Given the description of an element on the screen output the (x, y) to click on. 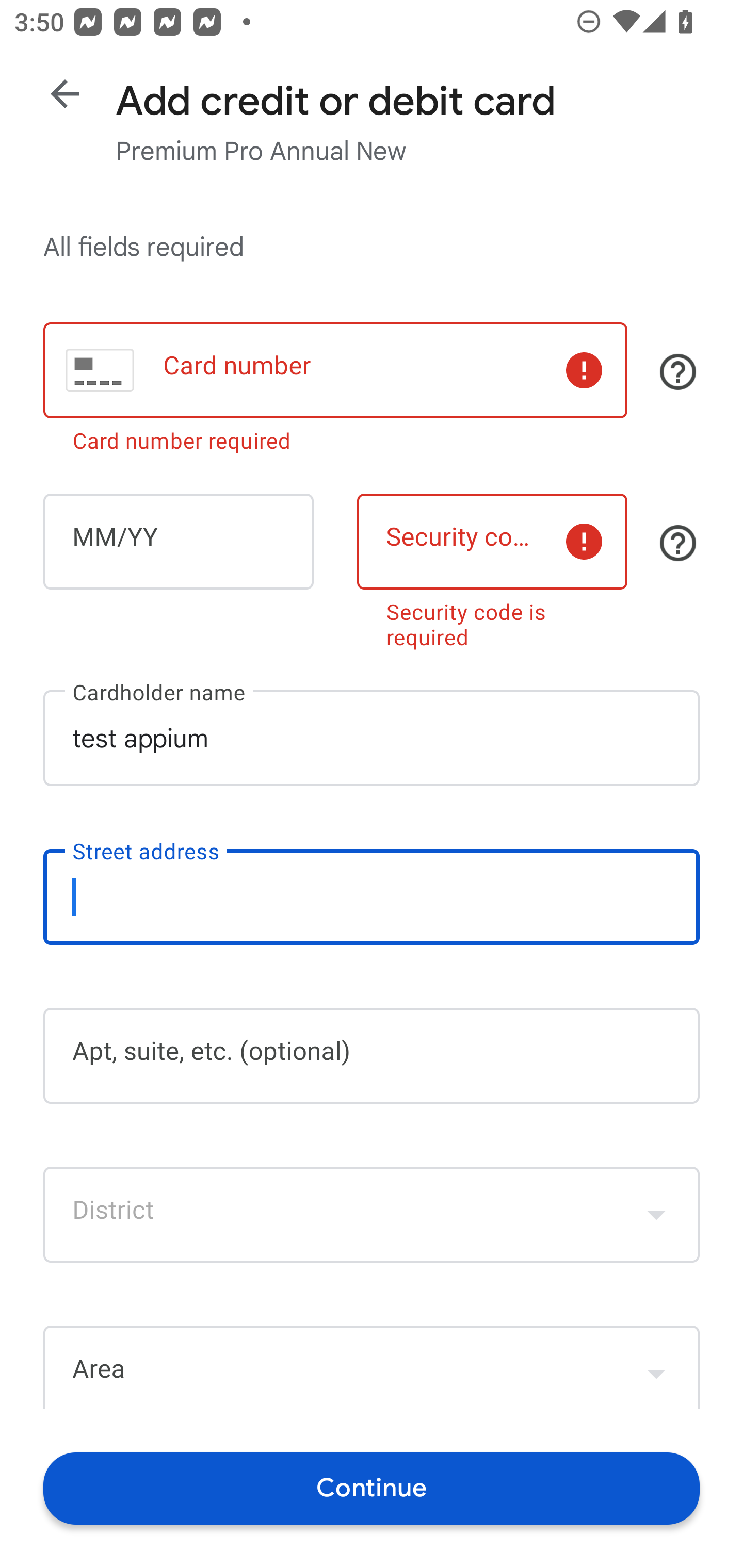
Back (64, 93)
Card number (335, 370)
Button, shows cards that are accepted for payment (677, 371)
Expiration date, 2 digit month, 2 digit year (178, 541)
Security code (492, 541)
Security code help (677, 543)
test appium (371, 737)
Street address (371, 896)
Apt, suite, etc. (optional) (371, 1055)
District (371, 1214)
Show dropdown menu (655, 1214)
Area (371, 1366)
Show dropdown menu (655, 1369)
Continue (371, 1487)
